Given the description of an element on the screen output the (x, y) to click on. 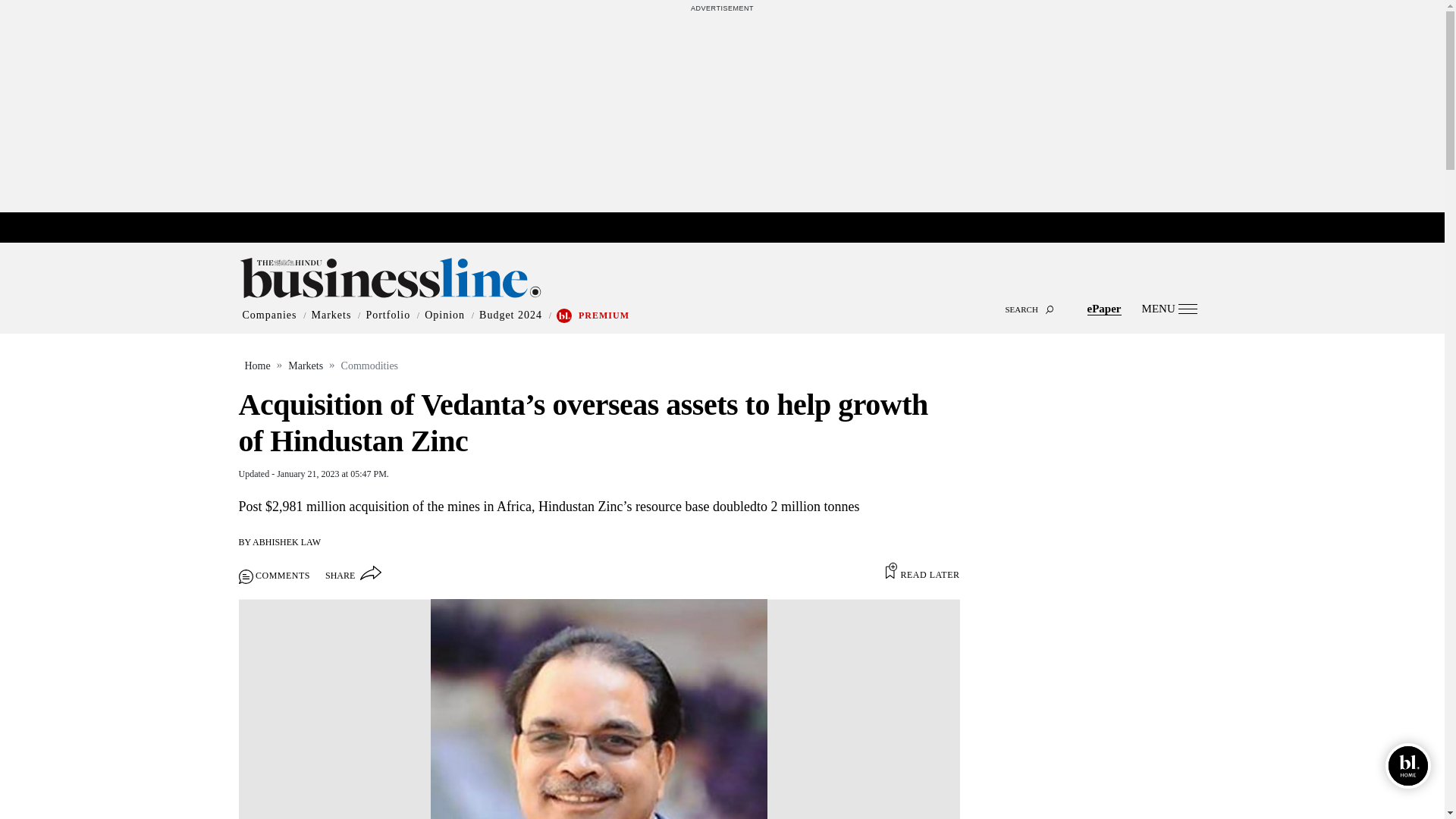
Budget 2024 (510, 315)
MENU (1168, 308)
Portfolio (387, 315)
Markets (330, 315)
PREMIUM (603, 315)
Opinion (444, 315)
SEARCH (721, 295)
Companies (270, 315)
marketupdate (729, 228)
ePaper (1104, 308)
